Given the description of an element on the screen output the (x, y) to click on. 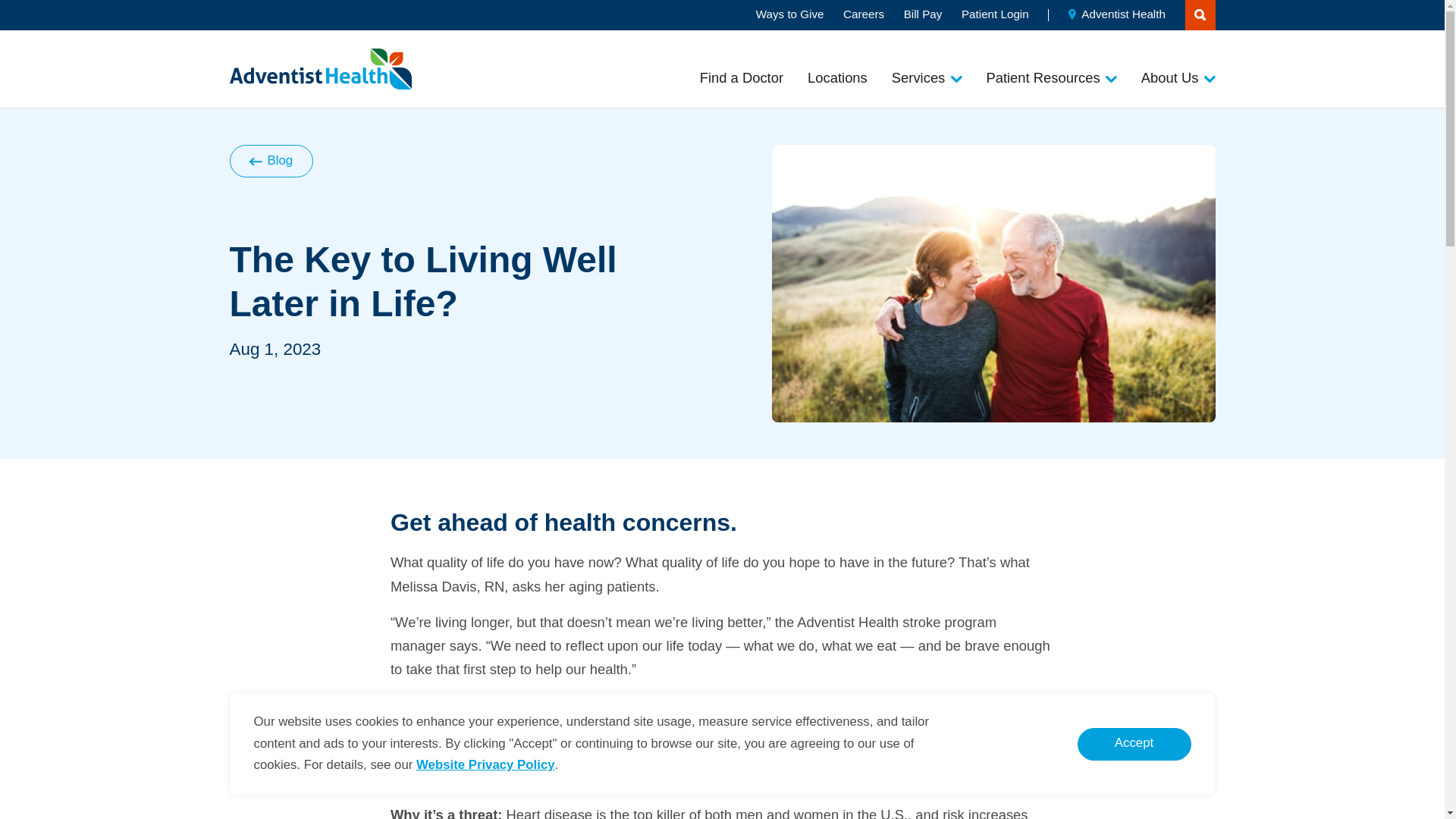
Bill Pay (923, 14)
Find a Doctor (741, 77)
Patient Login (994, 14)
Locations (837, 77)
Adventist Health (1117, 14)
Careers (863, 14)
Services (926, 77)
Ways to Give (789, 14)
